Given the description of an element on the screen output the (x, y) to click on. 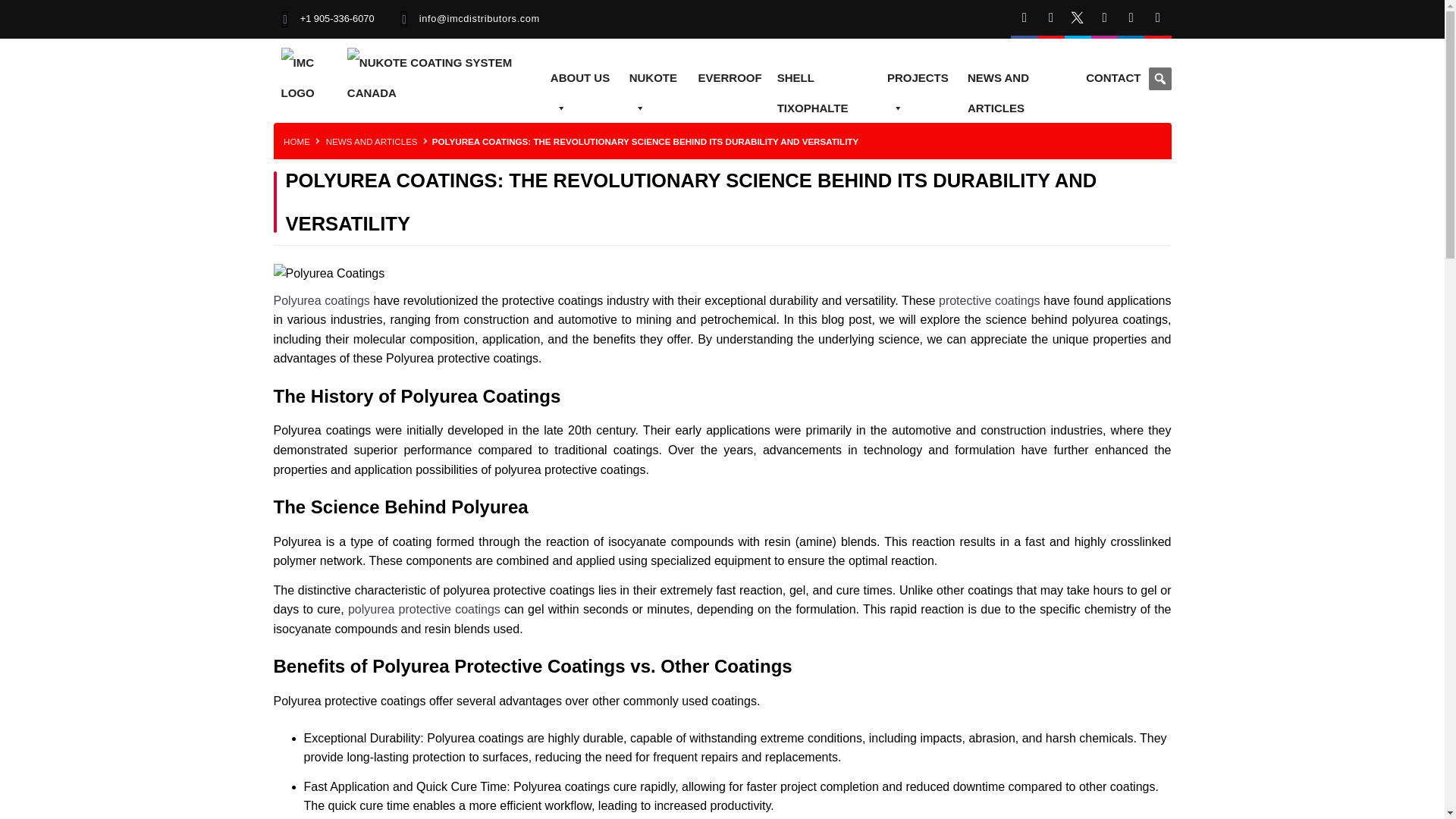
PROJECTS (919, 78)
SHELL TIXOPHALTE (824, 78)
ABOUT US (582, 78)
NUKOTE (655, 78)
EVERROOF (729, 78)
NEWS AND ARTICLES (1018, 78)
